Given the description of an element on the screen output the (x, y) to click on. 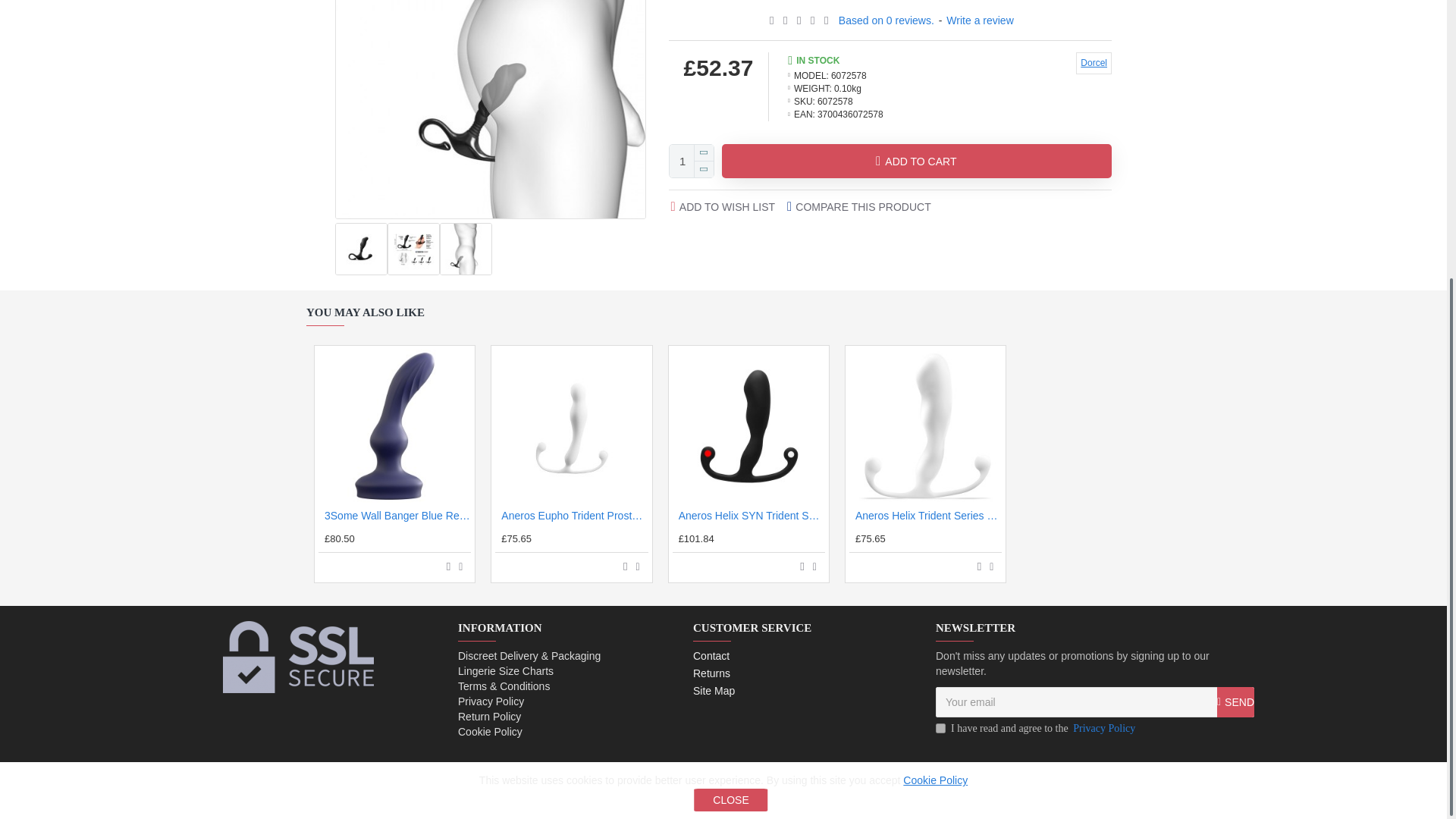
1 (940, 728)
1 (691, 160)
